Given the description of an element on the screen output the (x, y) to click on. 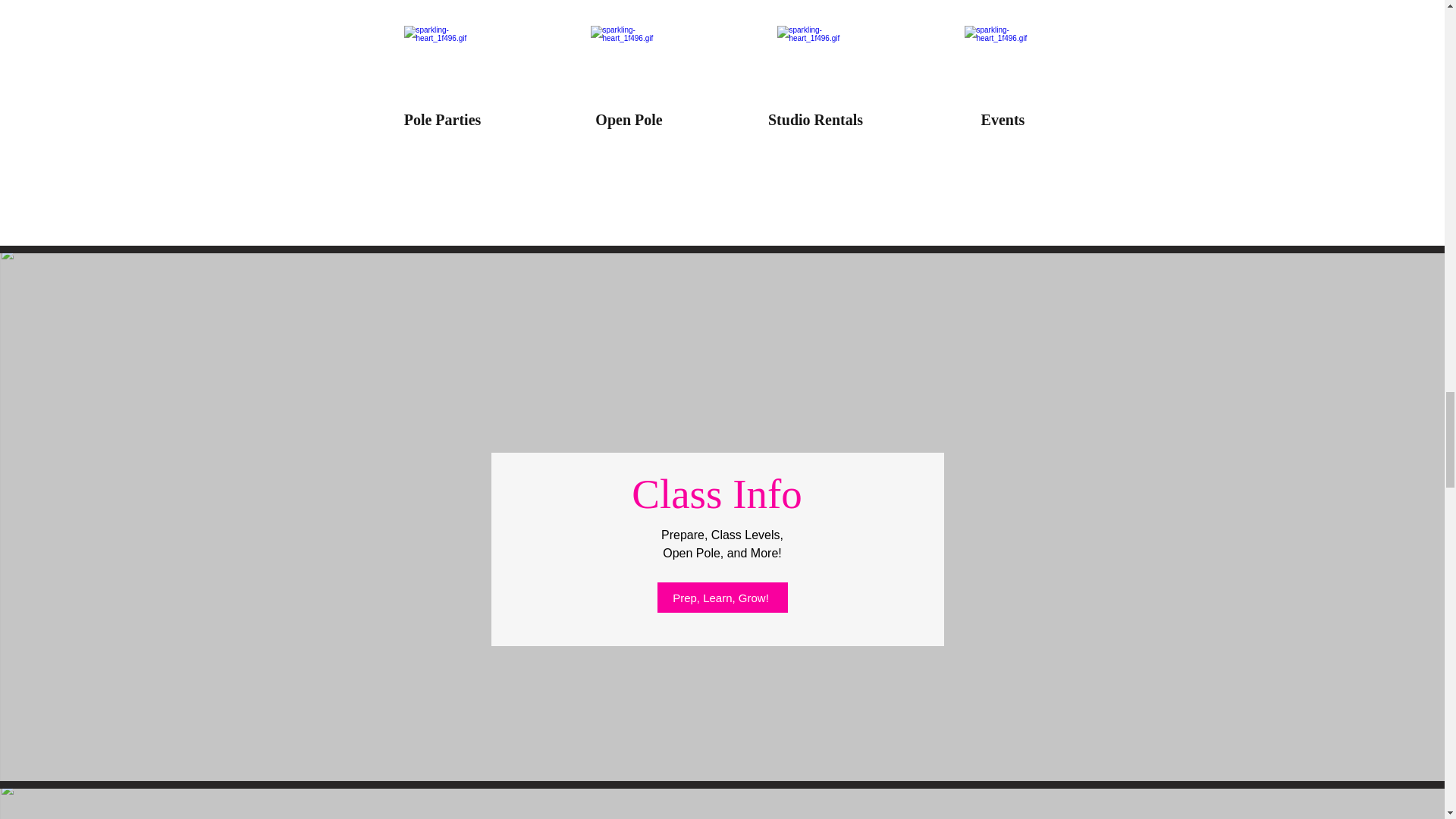
Open Pole (628, 119)
Pole Parties (442, 119)
Events (1003, 119)
Prep, Learn, Grow! (721, 597)
Studio Rentals (815, 119)
